Given the description of an element on the screen output the (x, y) to click on. 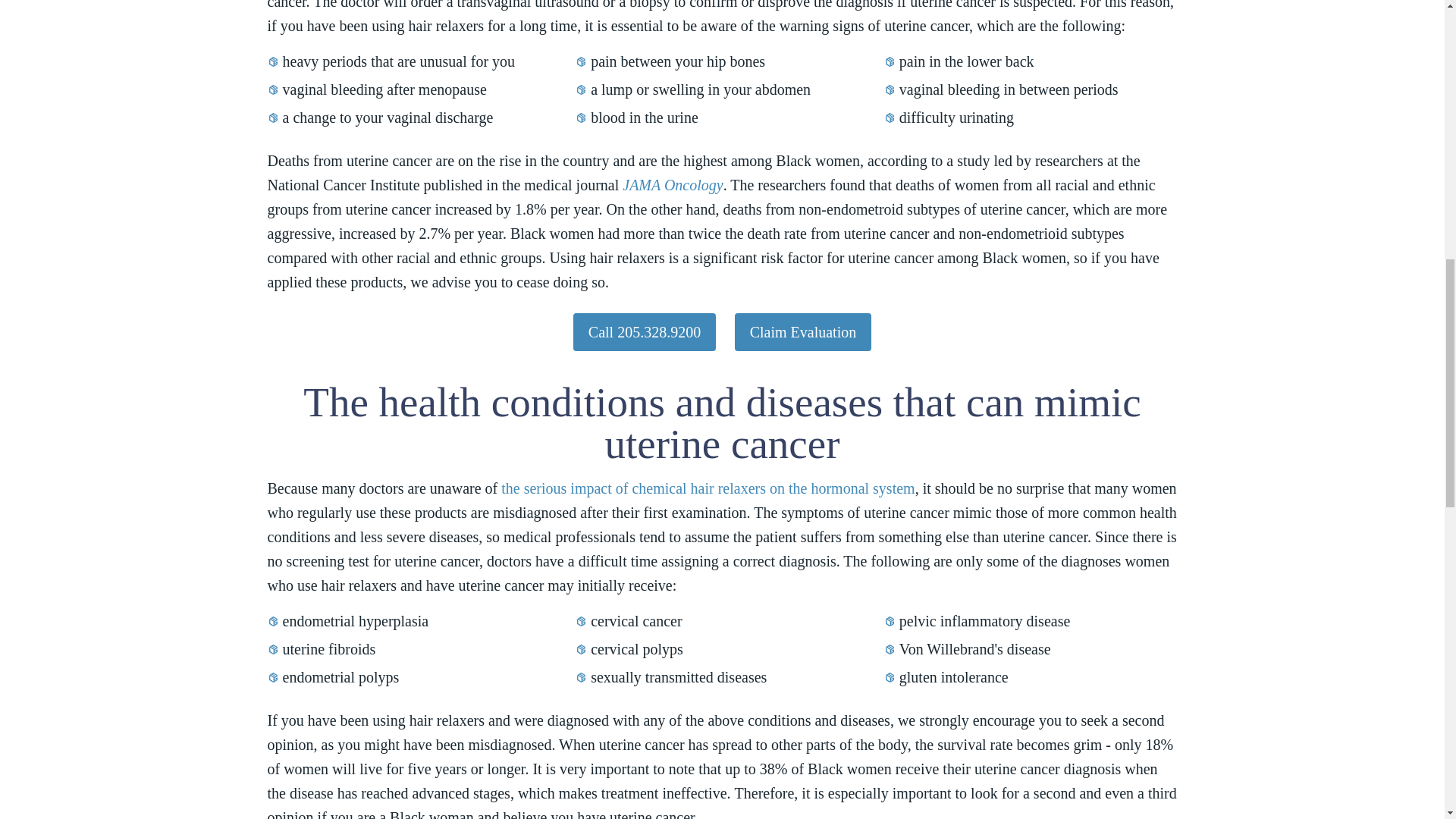
Uterine Cancer Deaths in Black Women (672, 184)
Call 205.328.9200 (644, 331)
JAMA Oncology (672, 184)
Call 205.328.9200 (644, 331)
Claim Evaluation (803, 331)
